Given the description of an element on the screen output the (x, y) to click on. 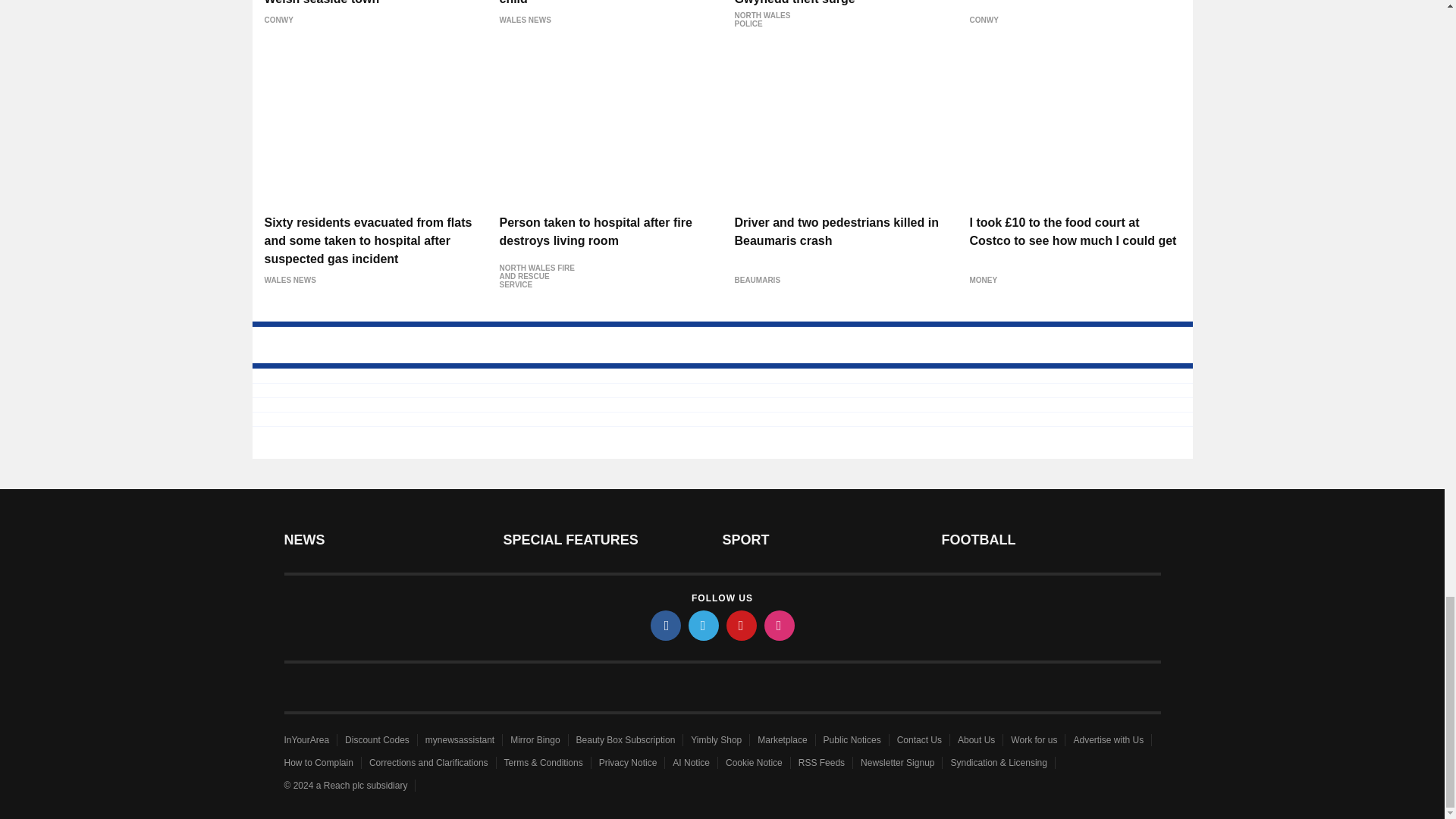
instagram (779, 625)
facebook (665, 625)
pinterest (741, 625)
twitter (703, 625)
